Given the description of an element on the screen output the (x, y) to click on. 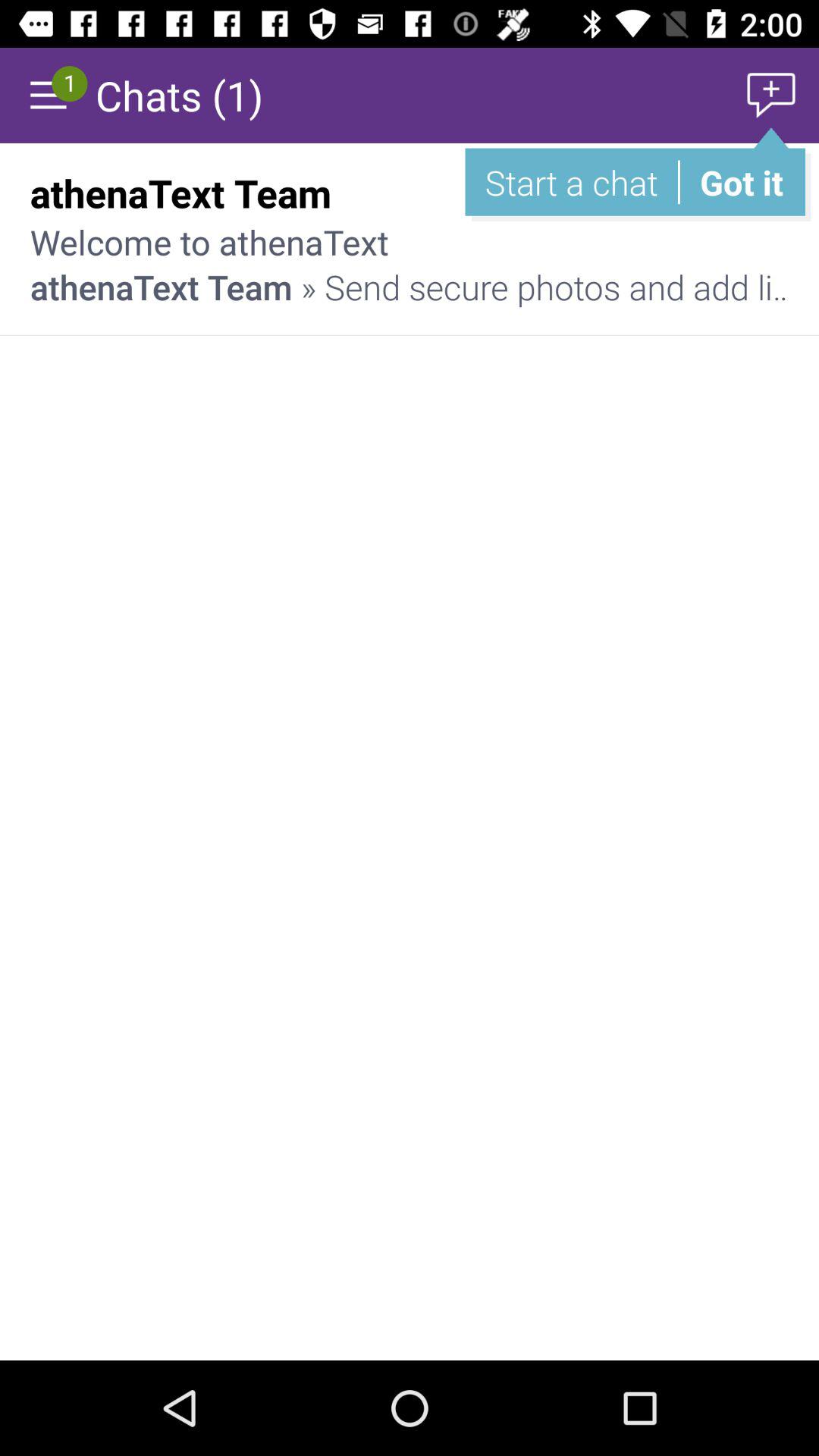
turn off the icon to the right of athenatext team icon (735, 192)
